Given the description of an element on the screen output the (x, y) to click on. 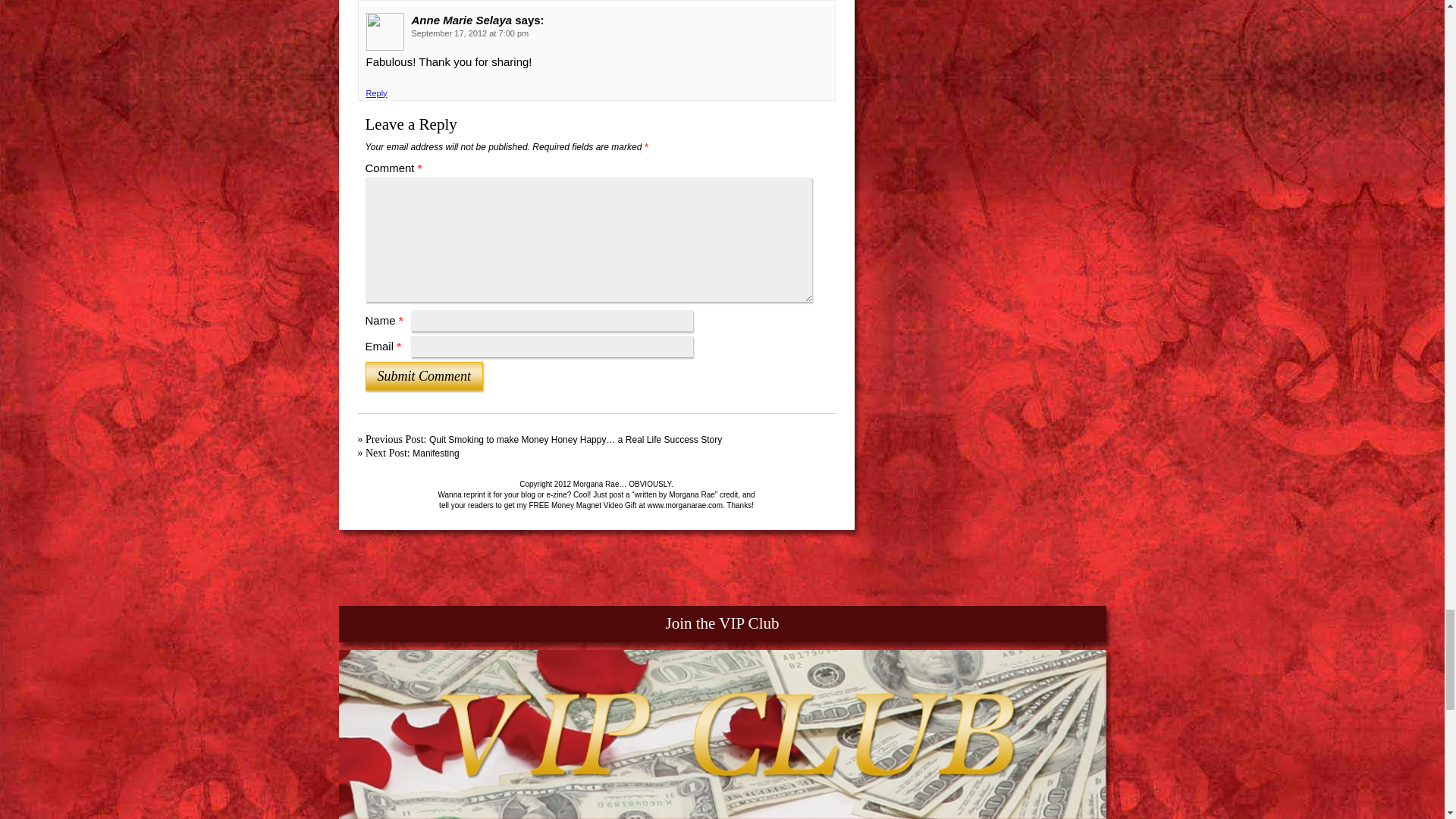
Submit Comment (424, 375)
